Given the description of an element on the screen output the (x, y) to click on. 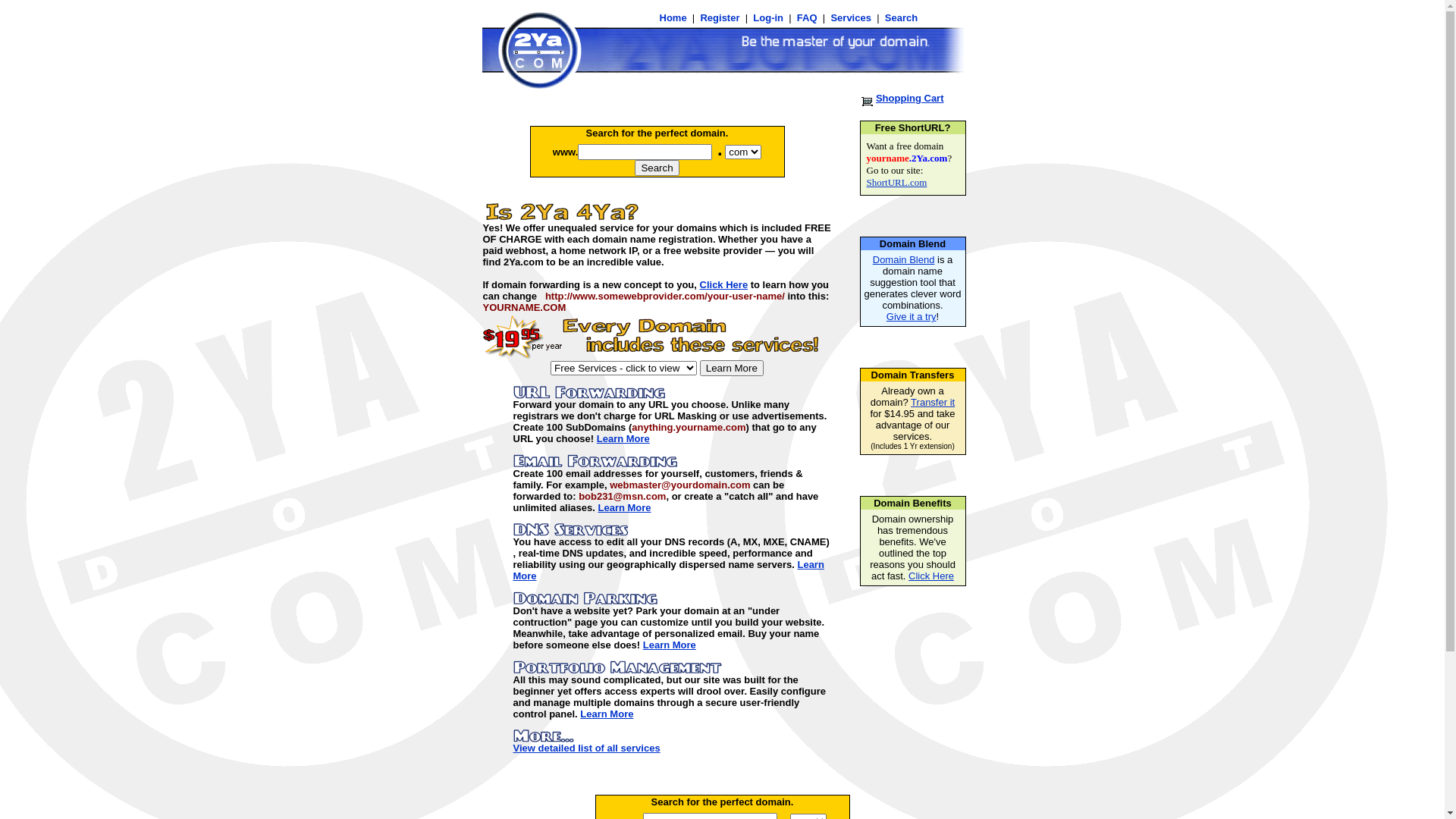
Click Here Element type: text (930, 575)
Give it a try Element type: text (911, 316)
 FAQ  Element type: text (806, 17)
 Search  Element type: text (900, 17)
Search Element type: text (656, 167)
Learn More Element type: text (606, 713)
 Services  Element type: text (851, 17)
 Log-in  Element type: text (768, 17)
ShortURL.com Element type: text (896, 182)
 Register  Element type: text (719, 17)
Learn More Element type: text (669, 644)
Learn More Element type: text (623, 507)
Learn More Element type: text (667, 569)
Shopping Cart Element type: text (909, 97)
Domain Blend Element type: text (903, 259)
Transfer it Element type: text (932, 401)
Learn More Element type: text (622, 438)
Home  Element type: text (674, 17)
Click Here Element type: text (723, 284)
Learn More Element type: text (731, 368)
View detailed list of all services Element type: text (585, 747)
